Given the description of an element on the screen output the (x, y) to click on. 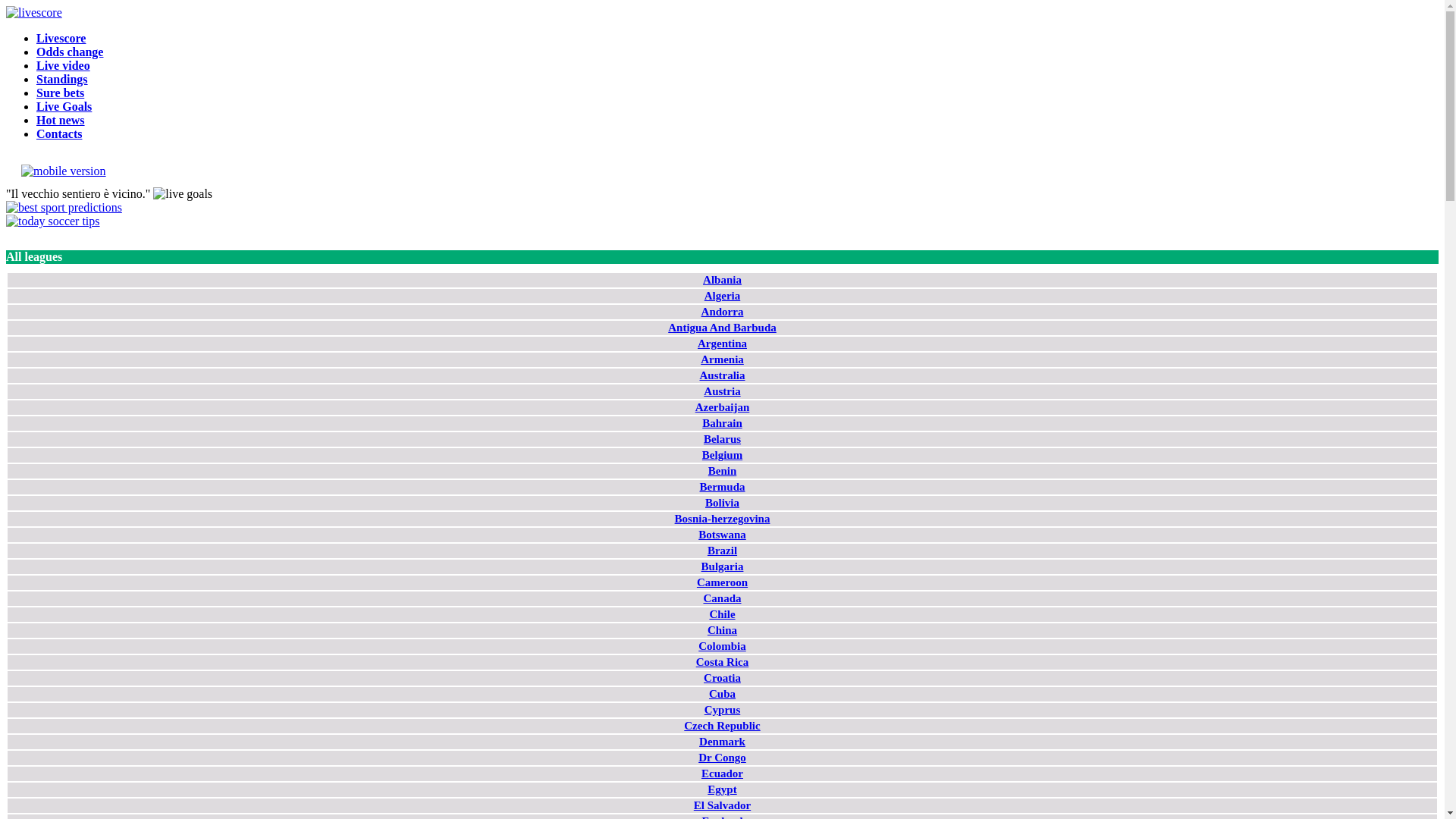
Livescore Element type: text (60, 37)
Bulgaria Element type: text (722, 566)
Odds change Element type: text (69, 51)
Paid football predictions Element type: hover (53, 220)
Cuba Element type: text (722, 693)
Bermuda Element type: text (721, 486)
Standings Element type: text (61, 78)
Bahrain Element type: text (722, 423)
Live video Element type: text (63, 65)
Albania Element type: text (721, 279)
Czech Republic Element type: text (721, 725)
Croatia Element type: text (721, 677)
Contacts Element type: text (58, 133)
Argentina Element type: text (721, 343)
Belgium Element type: text (722, 454)
Egypt Element type: text (721, 789)
Belarus Element type: text (721, 439)
Azerbaijan Element type: text (722, 407)
Costa Rica Element type: text (722, 661)
Canada Element type: text (721, 598)
Antigua And Barbuda Element type: text (722, 327)
Andorra Element type: text (722, 311)
China Element type: text (722, 630)
El Salvador Element type: text (721, 805)
Best Sport predictions TODAY Element type: hover (64, 206)
Chile Element type: text (721, 614)
Ecuador Element type: text (722, 773)
Armenia Element type: text (721, 359)
Algeria Element type: text (722, 295)
Benin Element type: text (722, 470)
Brazil Element type: text (722, 550)
Botswana Element type: text (722, 534)
Bolivia Element type: text (722, 502)
Colombia Element type: text (722, 646)
Mobile version Element type: hover (56, 170)
Bosnia-herzegovina Element type: text (722, 518)
Live Goals Element type: text (63, 106)
Austria Element type: text (721, 391)
Australia Element type: text (721, 375)
Cameroon Element type: text (721, 582)
Hot news Element type: text (60, 119)
Dr Congo Element type: text (722, 757)
Denmark Element type: text (722, 741)
Sure bets Element type: text (60, 92)
Cyprus Element type: text (722, 709)
